Given the description of an element on the screen output the (x, y) to click on. 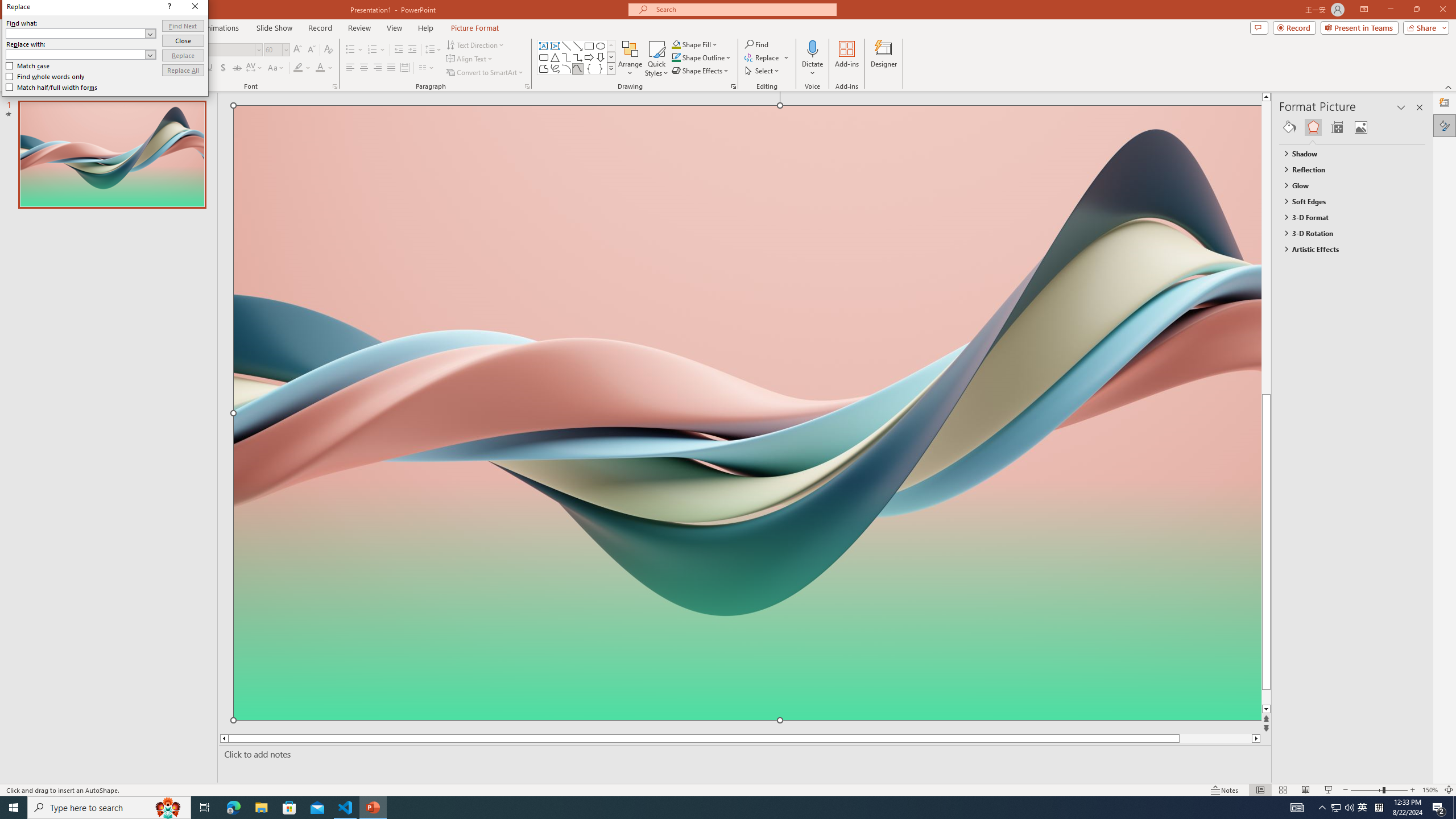
Picture (1361, 126)
Decorative Locked (747, 579)
3-D Format (1347, 217)
Replace with (75, 53)
Wavy 3D art (747, 412)
